Given the description of an element on the screen output the (x, y) to click on. 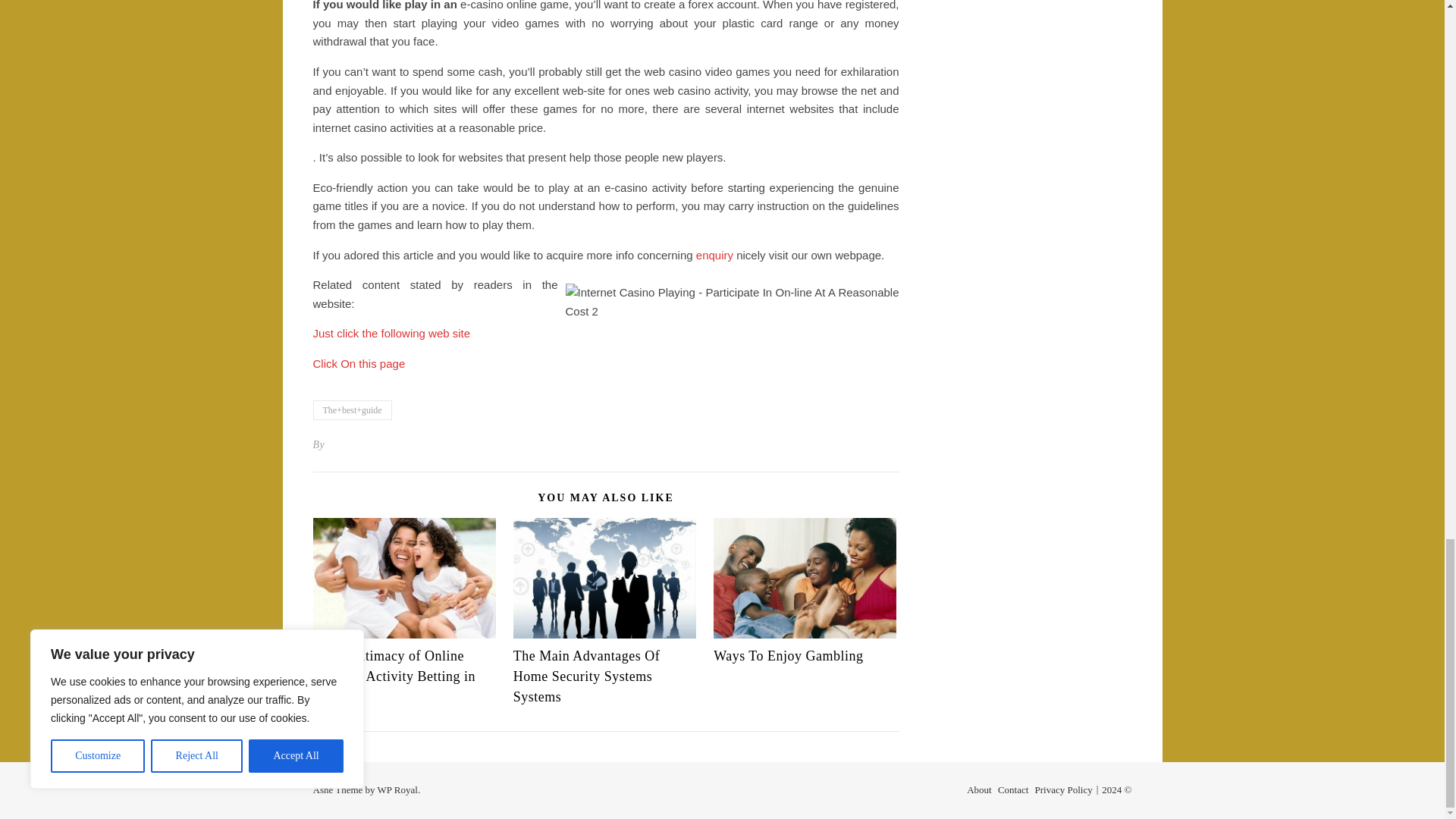
enquiry (714, 254)
The Main Advantages Of Home Security Systems Systems (586, 676)
Click On this page (358, 363)
Just click the following web site (391, 332)
Ways To Enjoy Gambling (788, 655)
